Given the description of an element on the screen output the (x, y) to click on. 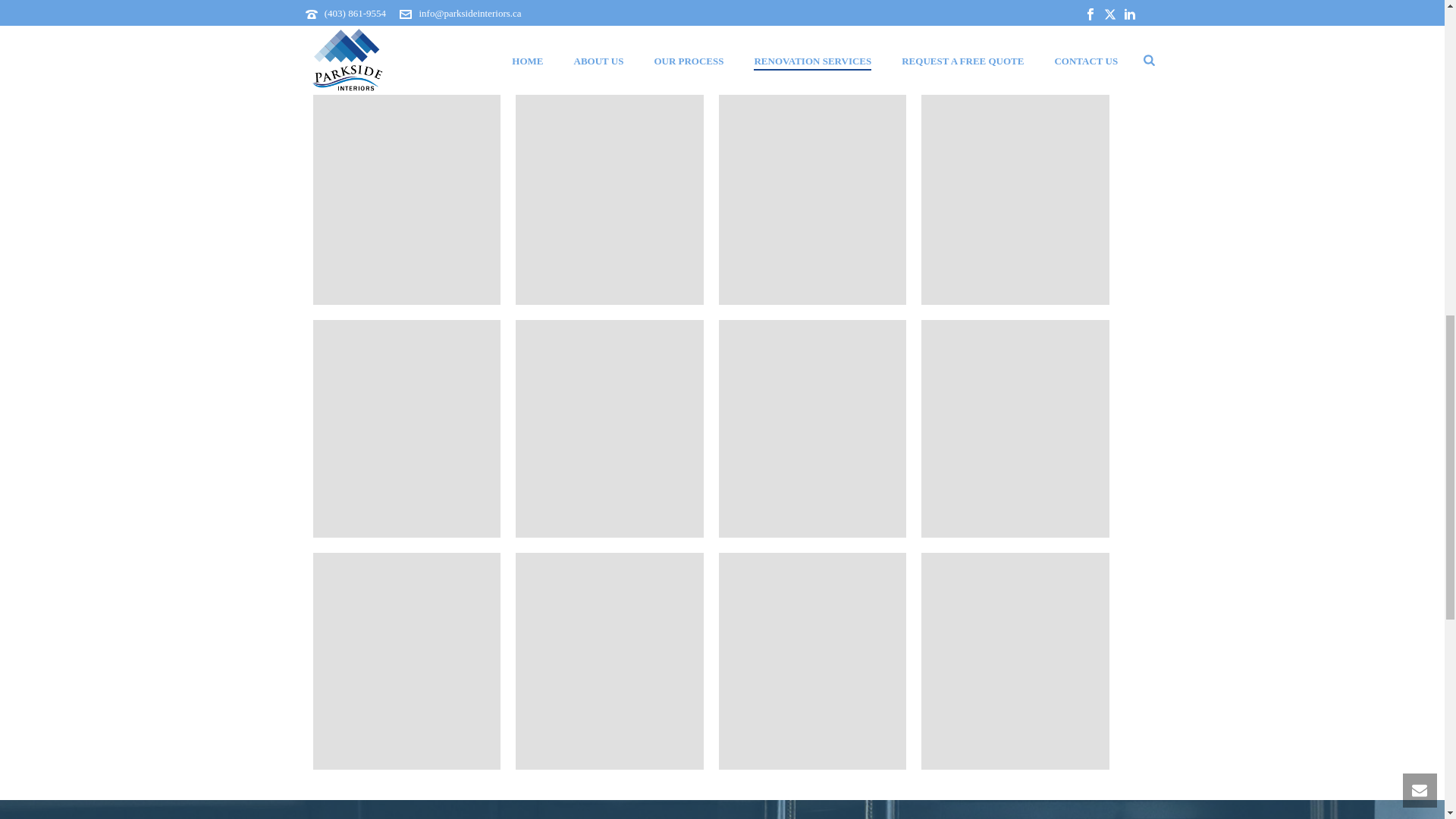
taylor (406, 428)
hm (813, 195)
pexels-photo-88737 (813, 428)
pexels-photo-104807 (609, 428)
henzig (609, 195)
mullen (1015, 195)
